Given the description of an element on the screen output the (x, y) to click on. 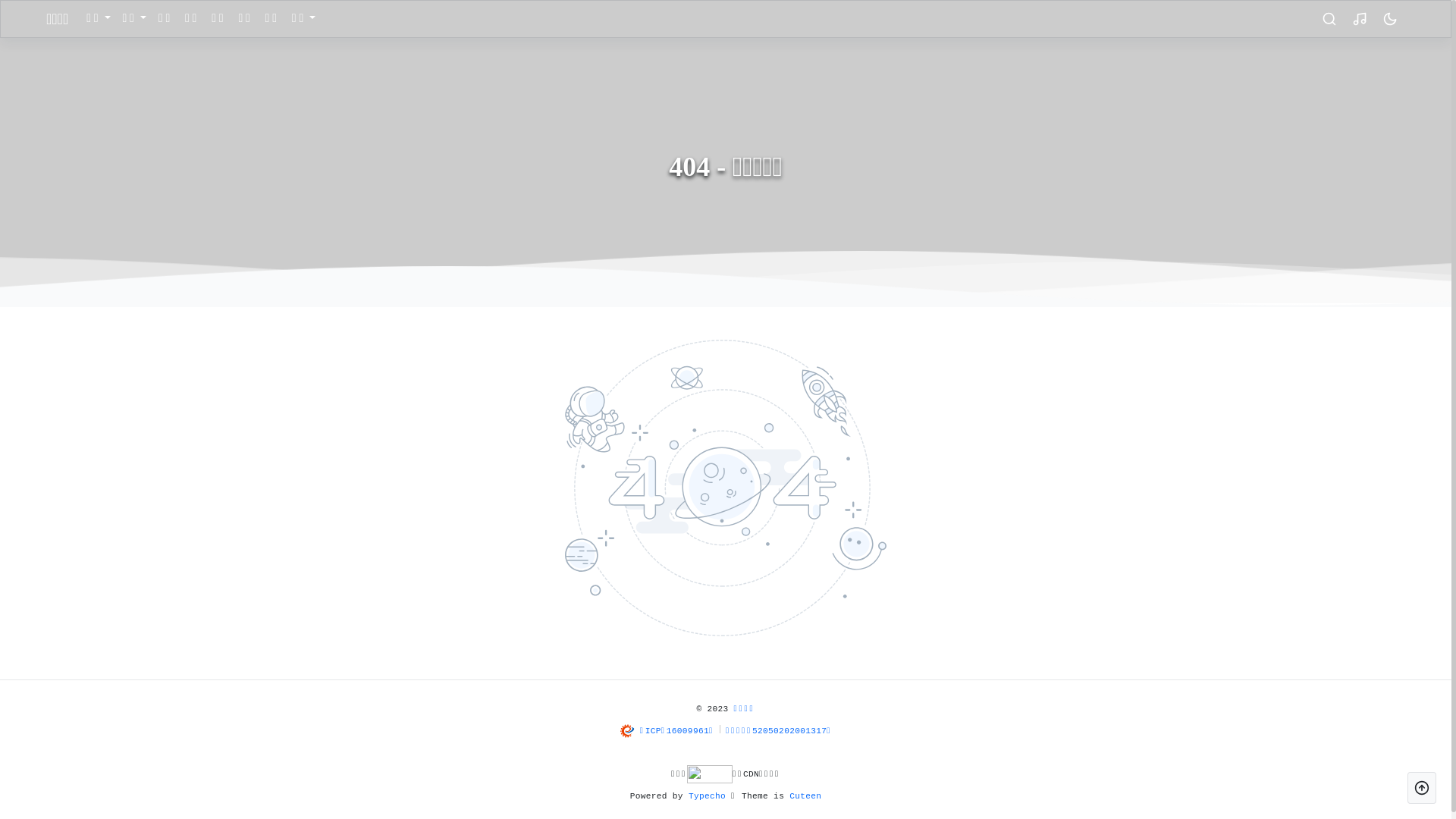
Cuteen Element type: text (805, 795)
Typecho Element type: text (706, 795)
0 Element type: text (1389, 18)
